Given the description of an element on the screen output the (x, y) to click on. 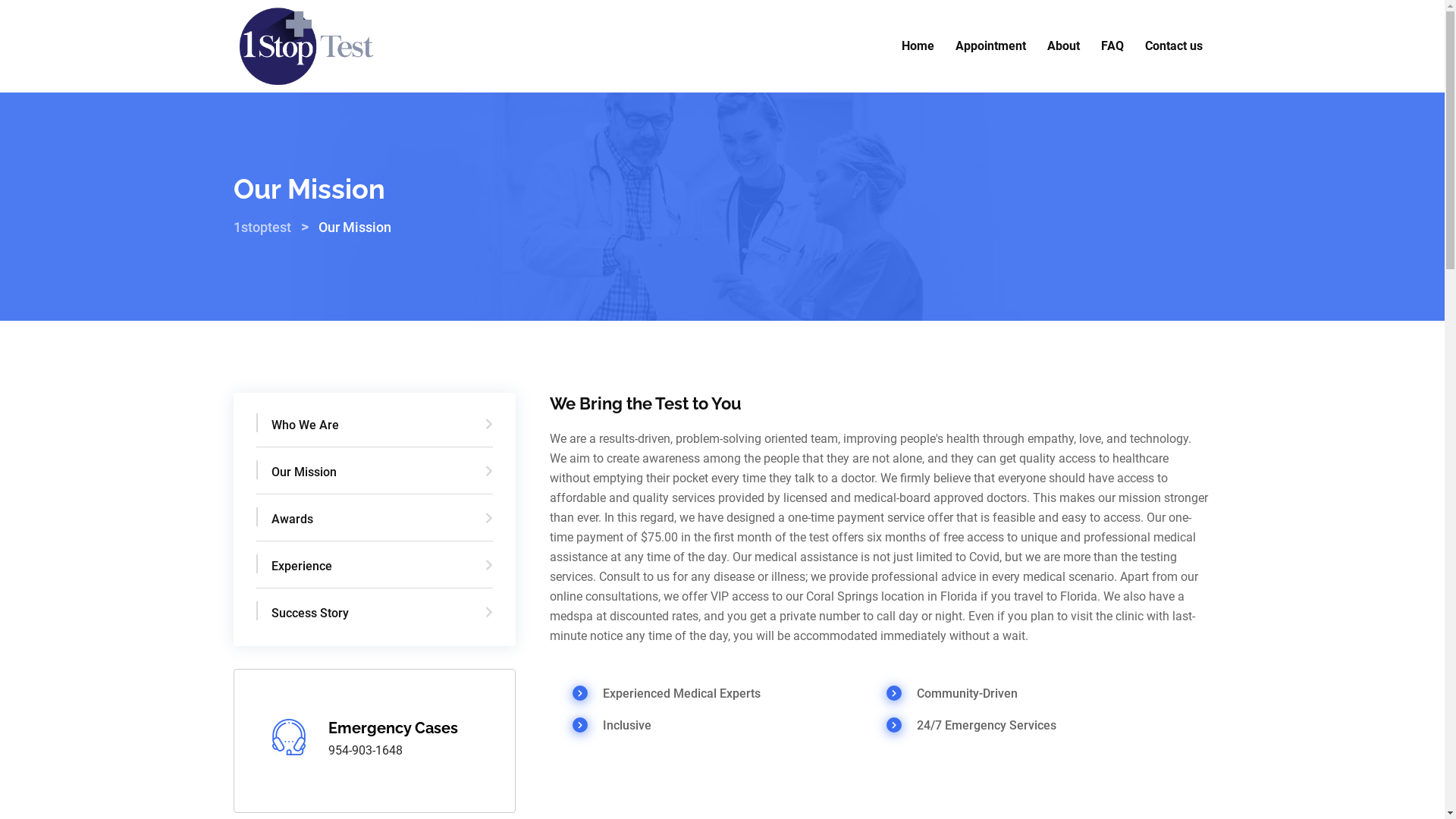
1stoptest Element type: text (262, 227)
Awards Element type: text (374, 525)
Our Mission Element type: text (374, 478)
Appointment Element type: text (990, 46)
Experience Element type: text (374, 572)
Emergency Cases Element type: text (392, 727)
FAQ Element type: text (1112, 46)
About Element type: text (1062, 46)
Home Element type: text (916, 46)
Success Story Element type: text (374, 613)
Who We Are Element type: text (374, 431)
Contact us Element type: text (1173, 46)
